Given the description of an element on the screen output the (x, y) to click on. 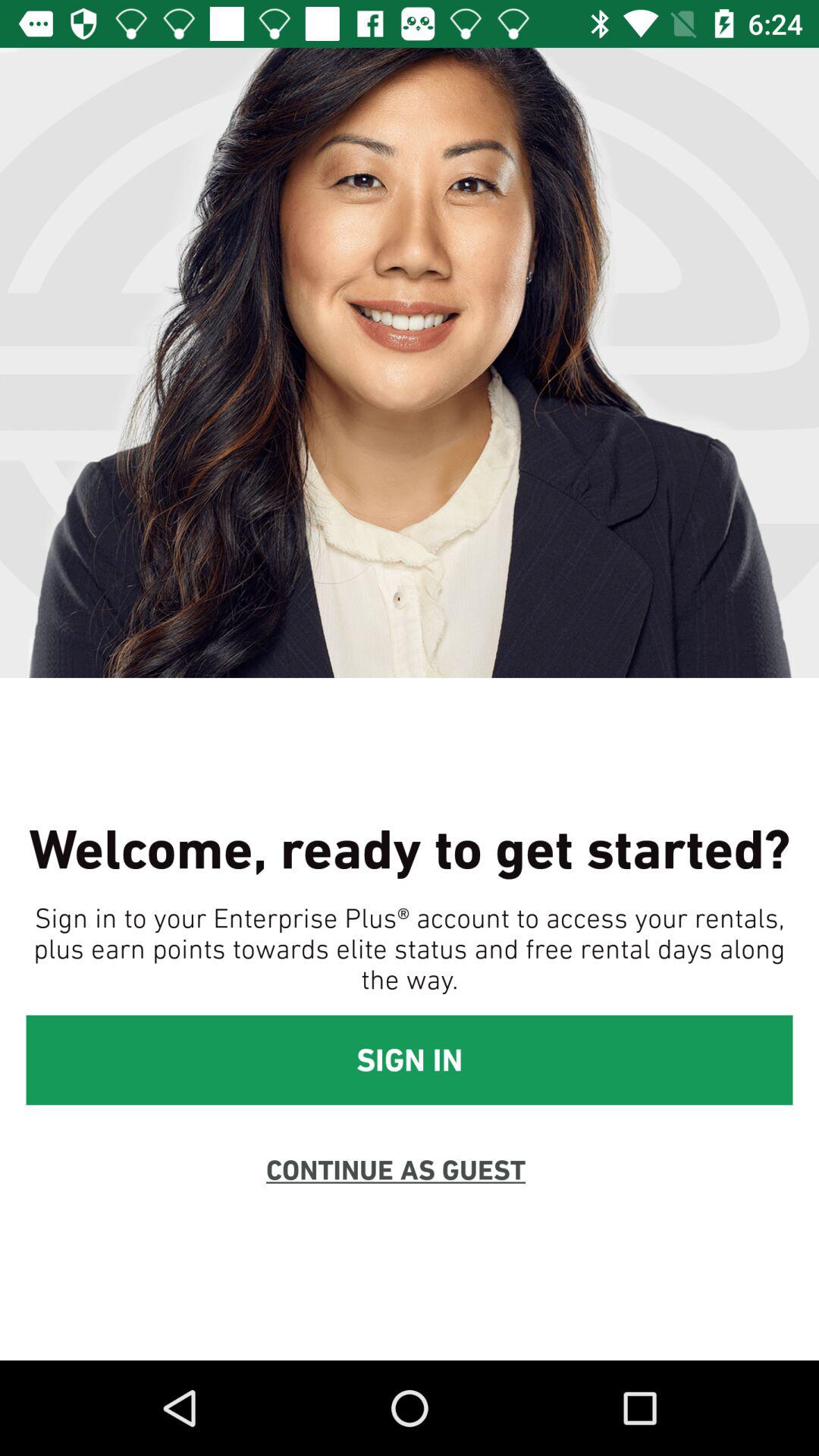
select continue as guest item (395, 1169)
